Given the description of an element on the screen output the (x, y) to click on. 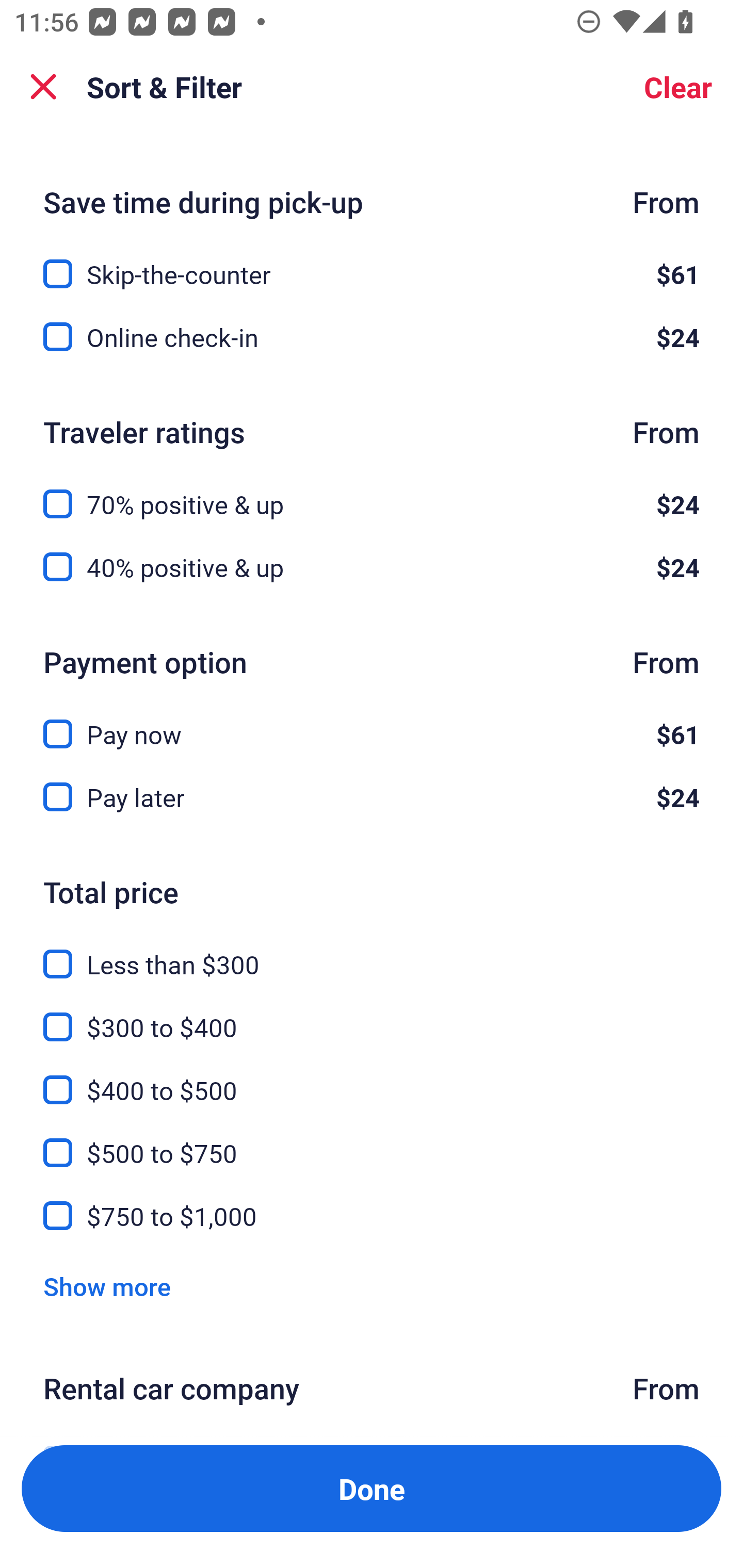
Close Sort and Filter (43, 86)
Clear (677, 86)
Skip-the-counter, $61 Skip-the-counter $61 (371, 262)
Online check-in, $24 Online check-in $24 (371, 337)
70% positive & up, $24 70% positive & up $24 (371, 491)
40% positive & up, $24 40% positive & up $24 (371, 566)
Pay now, $61 Pay now $61 (371, 722)
Pay later, $24 Pay later $24 (371, 797)
Less than $300, Less than $300 (371, 952)
$300 to $400, $300 to $400 (371, 1015)
$400 to $500, $400 to $500 (371, 1078)
$500 to $750, $500 to $750 (371, 1141)
$750 to $1,000, $750 to $1,000 (371, 1215)
Show more Show more Link (106, 1286)
Apply and close Sort and Filter Done (371, 1488)
